Given the description of an element on the screen output the (x, y) to click on. 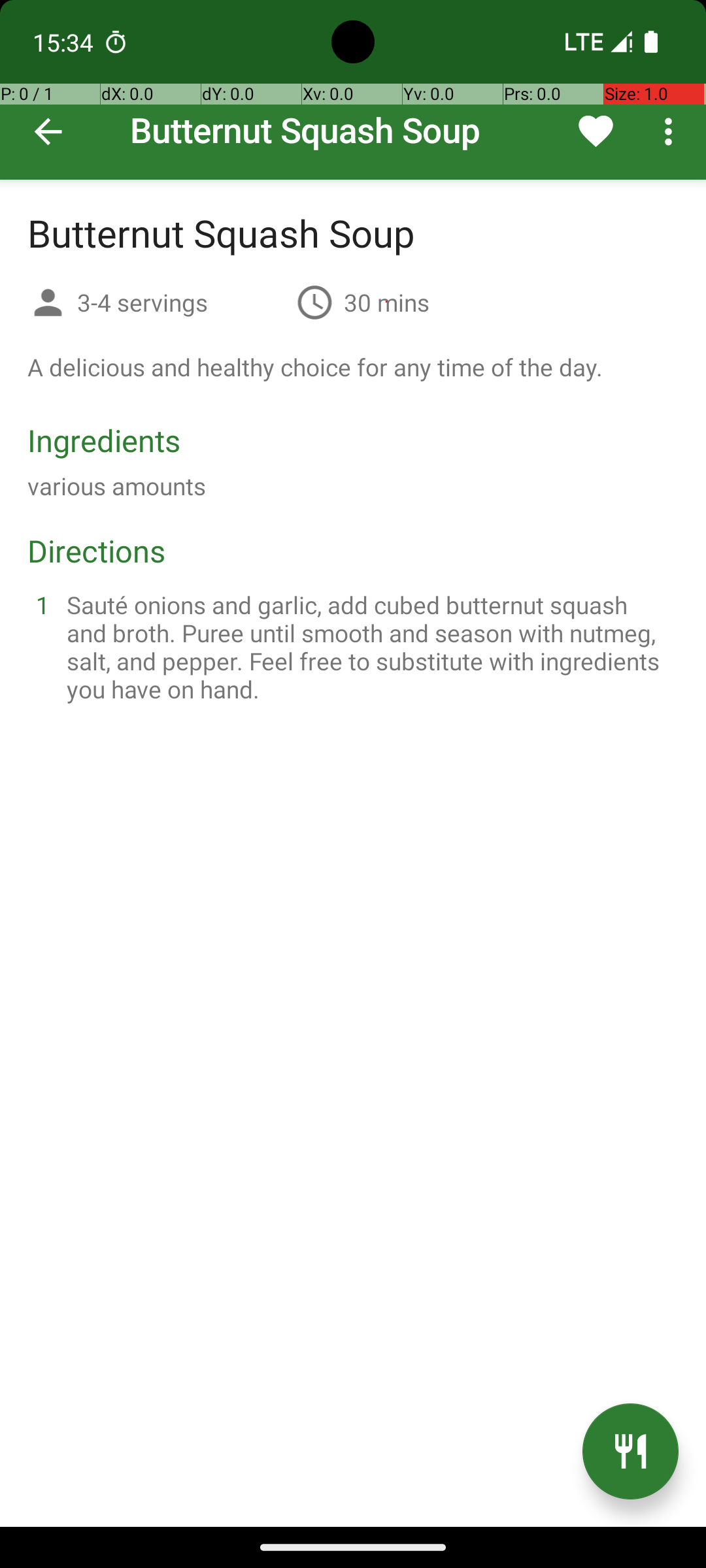
Sauté onions and garlic, add cubed butternut squash and broth. Puree until smooth and season with nutmeg, salt, and pepper. Feel free to substitute with ingredients you have on hand. Element type: android.widget.TextView (368, 646)
